Given the description of an element on the screen output the (x, y) to click on. 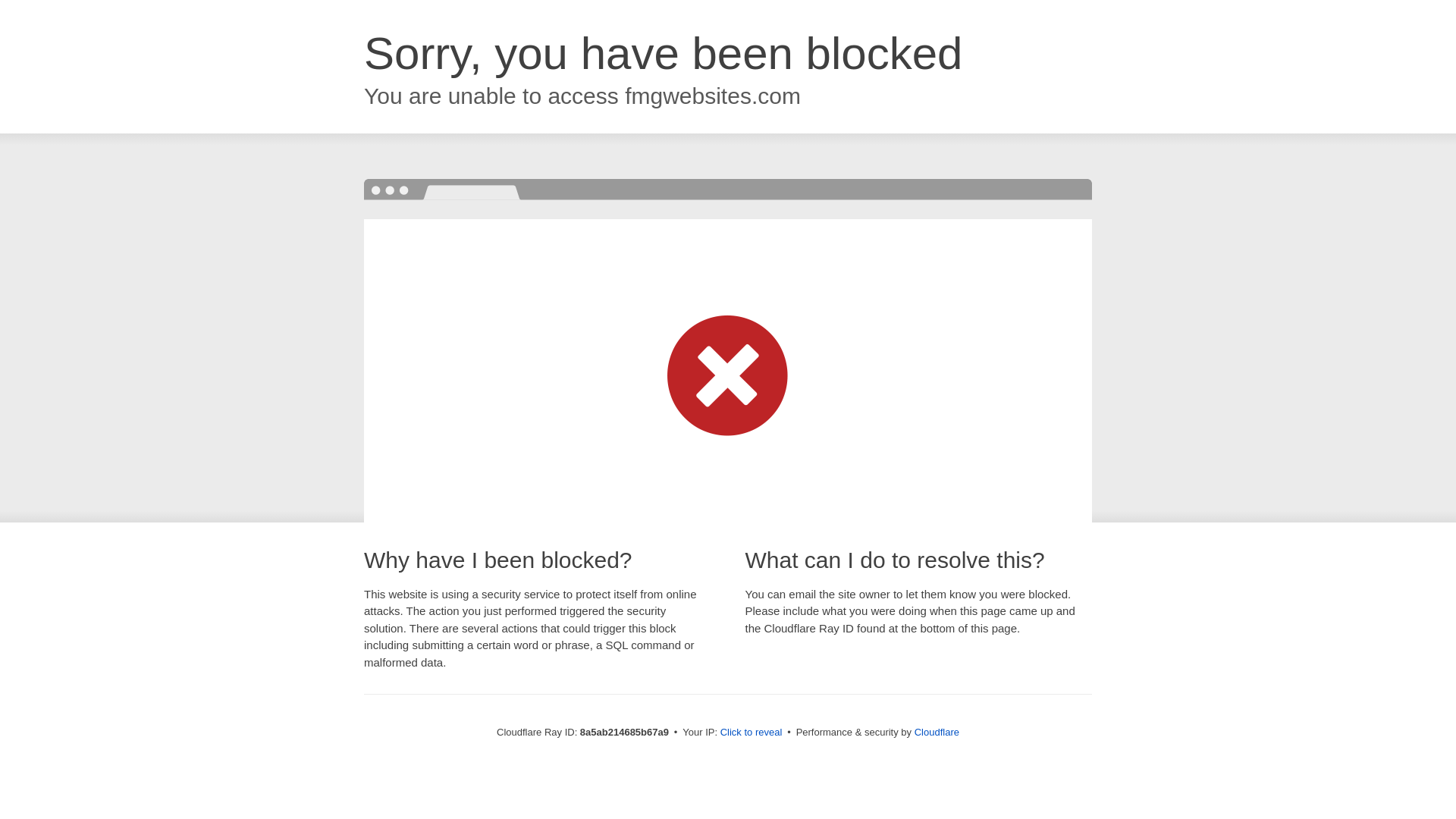
Cloudflare (936, 731)
Click to reveal (751, 732)
